Given the description of an element on the screen output the (x, y) to click on. 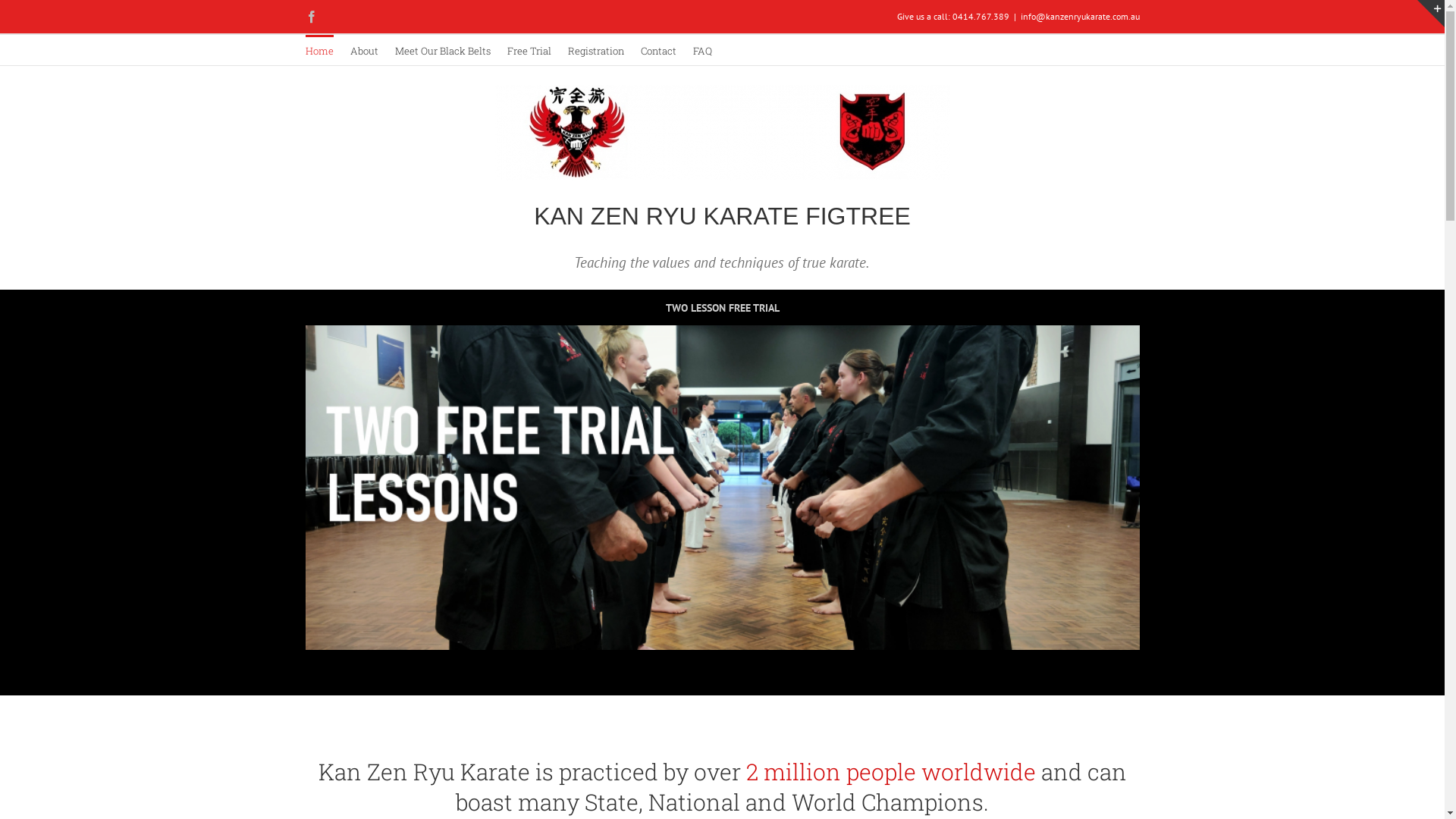
About Element type: text (364, 49)
Facebook Element type: text (310, 16)
Home Element type: text (318, 49)
2 Element type: text (722, 666)
3 Element type: text (739, 666)
Meet Our Black Belts Element type: text (441, 49)
1 Element type: text (704, 666)
Contact Element type: text (657, 49)
info@kanzenryukarate.com.au Element type: text (1079, 15)
TWO LESSON FREE TRIAL Element type: text (721, 308)
Karate Black Belts Lineup Element type: hover (721, 487)
Free Trial Element type: text (528, 49)
FAQ Element type: text (702, 49)
Toggle Sliding Bar Area Element type: text (1430, 13)
Registration Element type: text (595, 49)
